Given the description of an element on the screen output the (x, y) to click on. 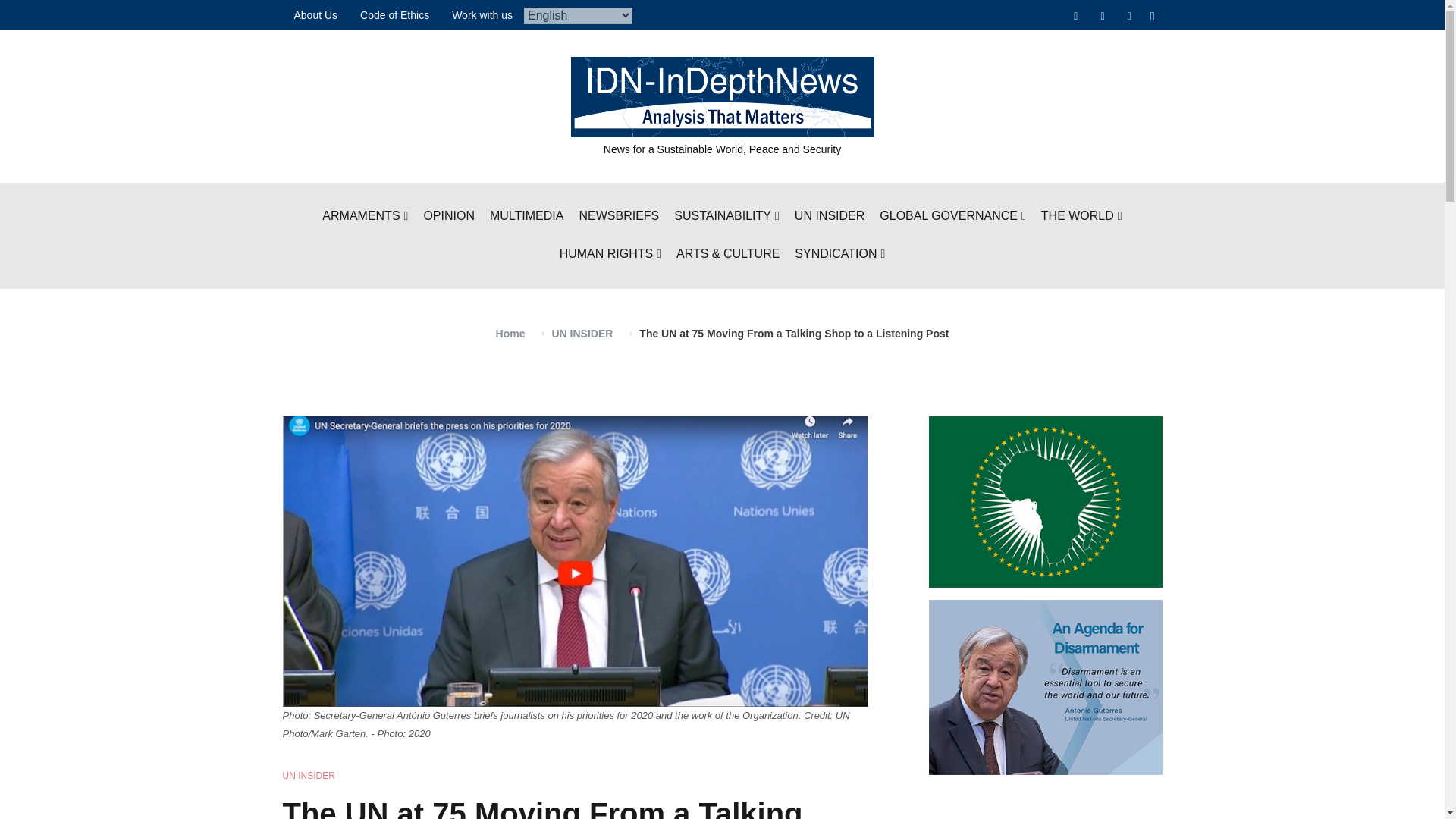
OPINION (448, 216)
Code of Ethics (395, 14)
ARMAMENTS (364, 216)
NEWSBRIEFS (618, 216)
GLOBAL GOVERNANCE (952, 216)
MULTIMEDIA (526, 216)
Work with us (482, 14)
About Us (315, 14)
UN INSIDER (829, 216)
SUSTAINABILITY (726, 216)
